Given the description of an element on the screen output the (x, y) to click on. 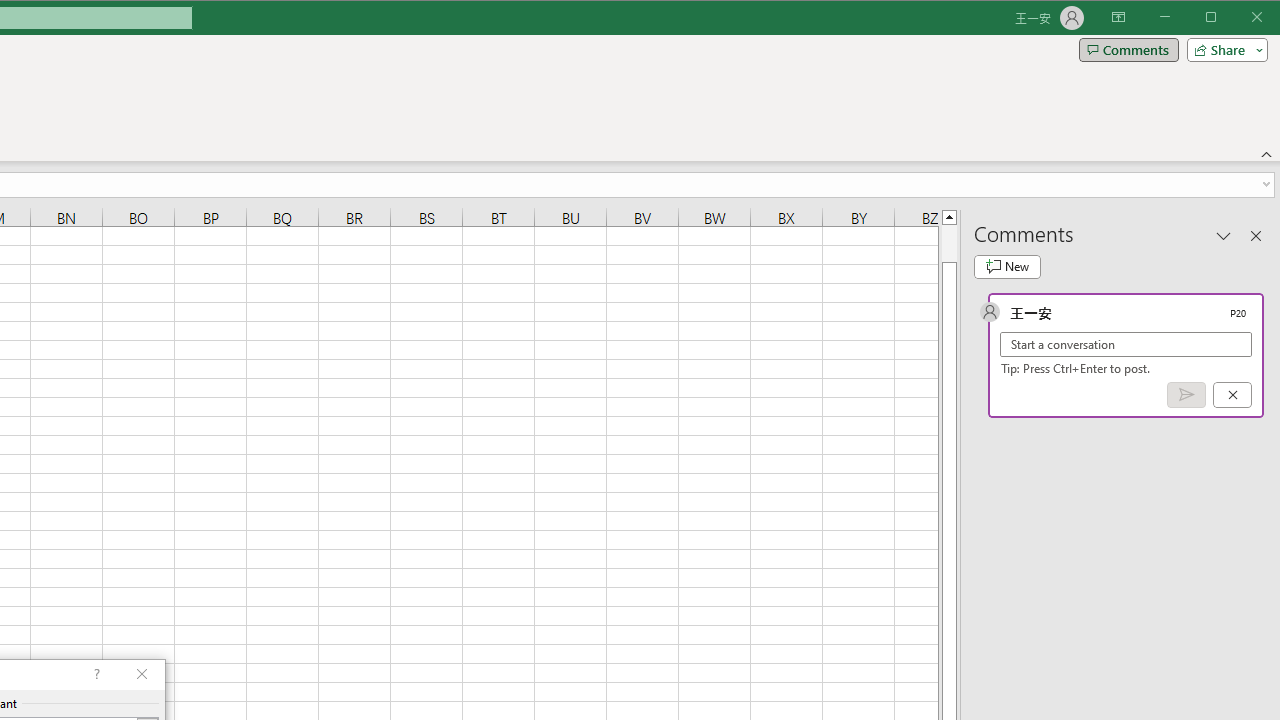
Share (1223, 49)
Collapse the Ribbon (1267, 154)
Post comment (Ctrl + Enter) (1186, 395)
Close (1261, 18)
Close pane (1256, 235)
Comments (1128, 49)
Cancel (1232, 395)
Maximize (1239, 18)
Task Pane Options (1224, 235)
Start a conversation (1126, 344)
Line up (948, 216)
Page up (948, 243)
Minimize (1217, 18)
